Given the description of an element on the screen output the (x, y) to click on. 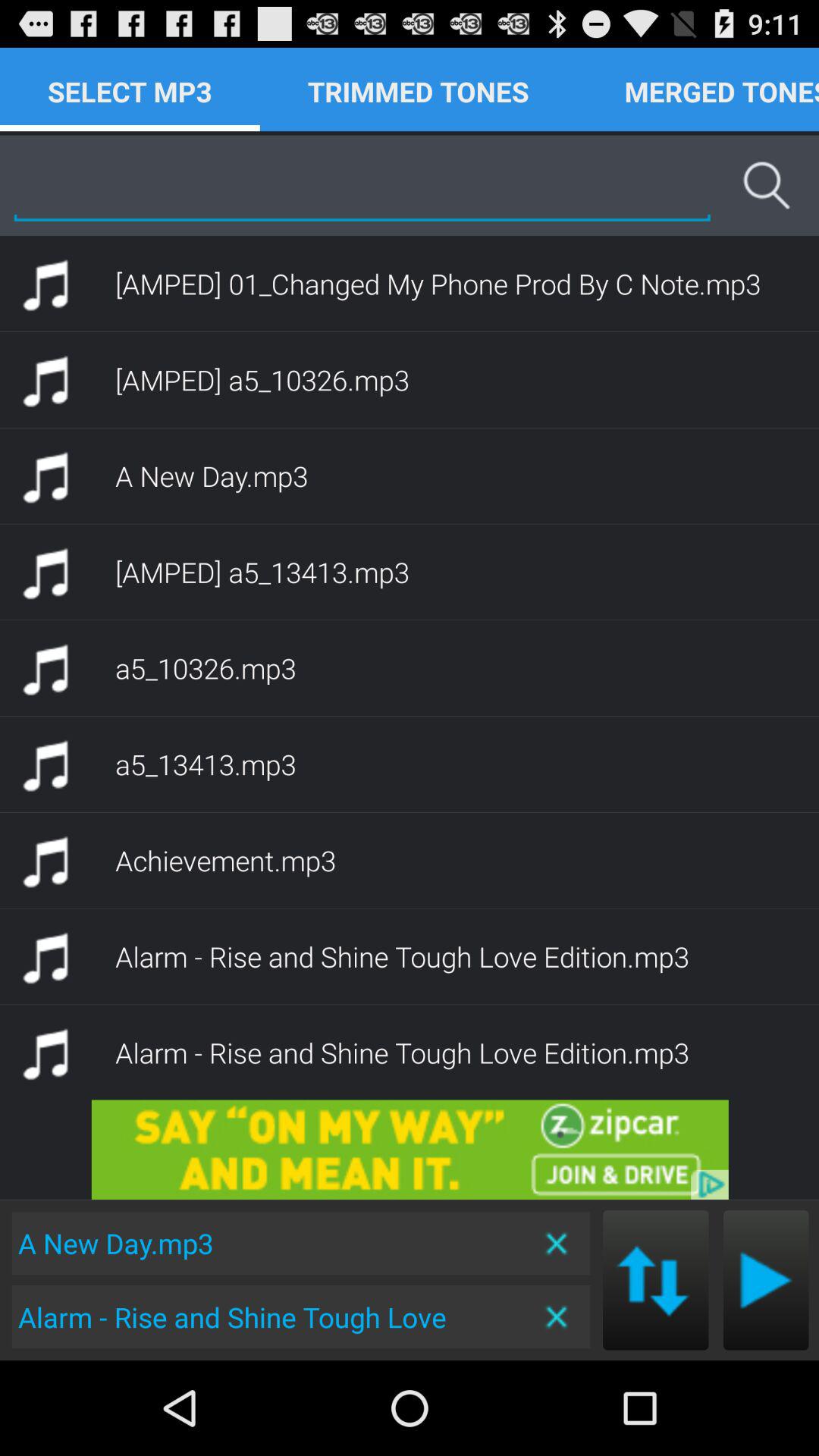
select advertisement (409, 1149)
